Given the description of an element on the screen output the (x, y) to click on. 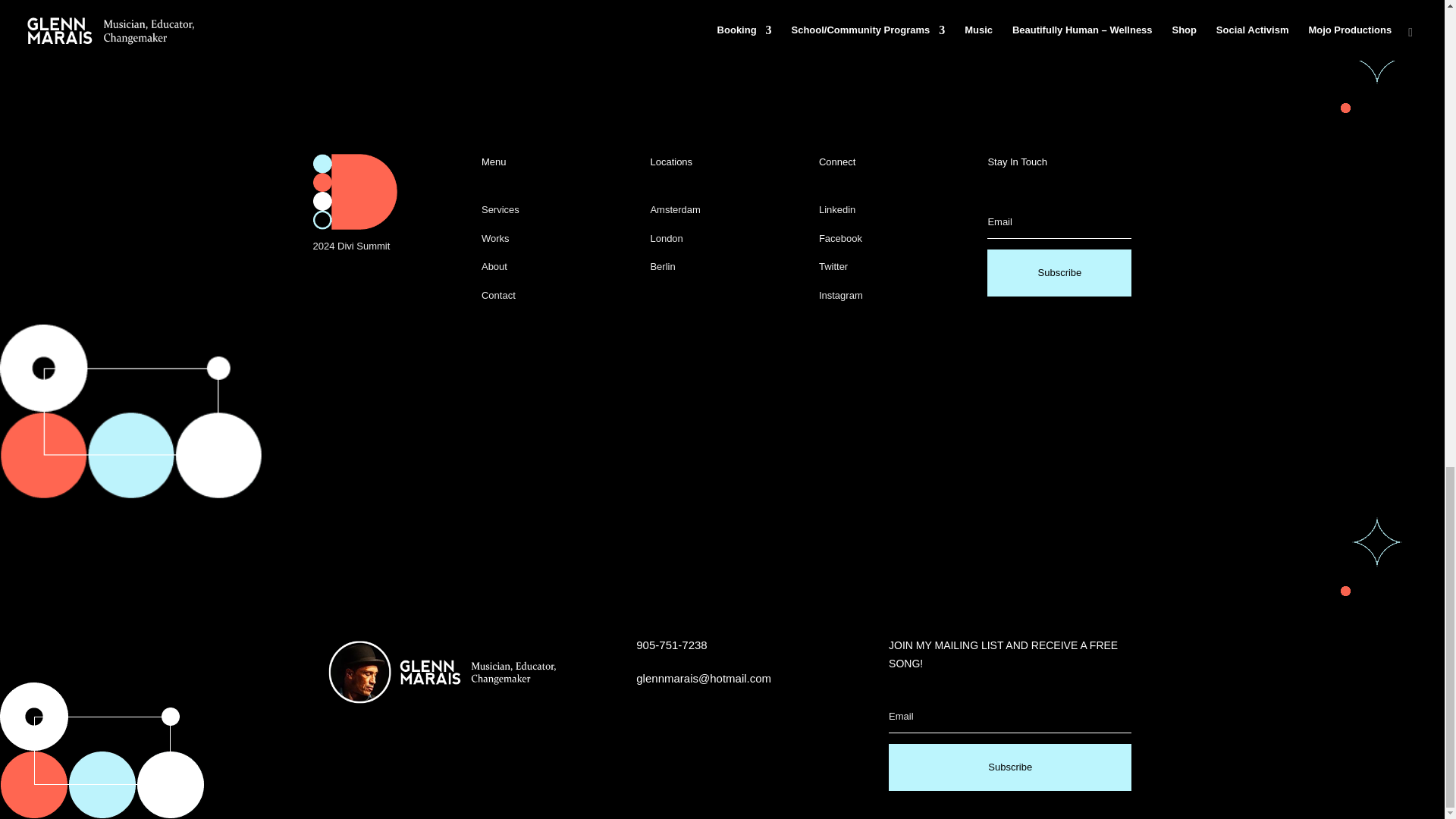
conference-15 (354, 191)
Amsterdam (674, 209)
Works (495, 238)
About (493, 266)
cropped-top-image-v2 (433, 672)
Services (500, 209)
Contact (498, 295)
